Given the description of an element on the screen output the (x, y) to click on. 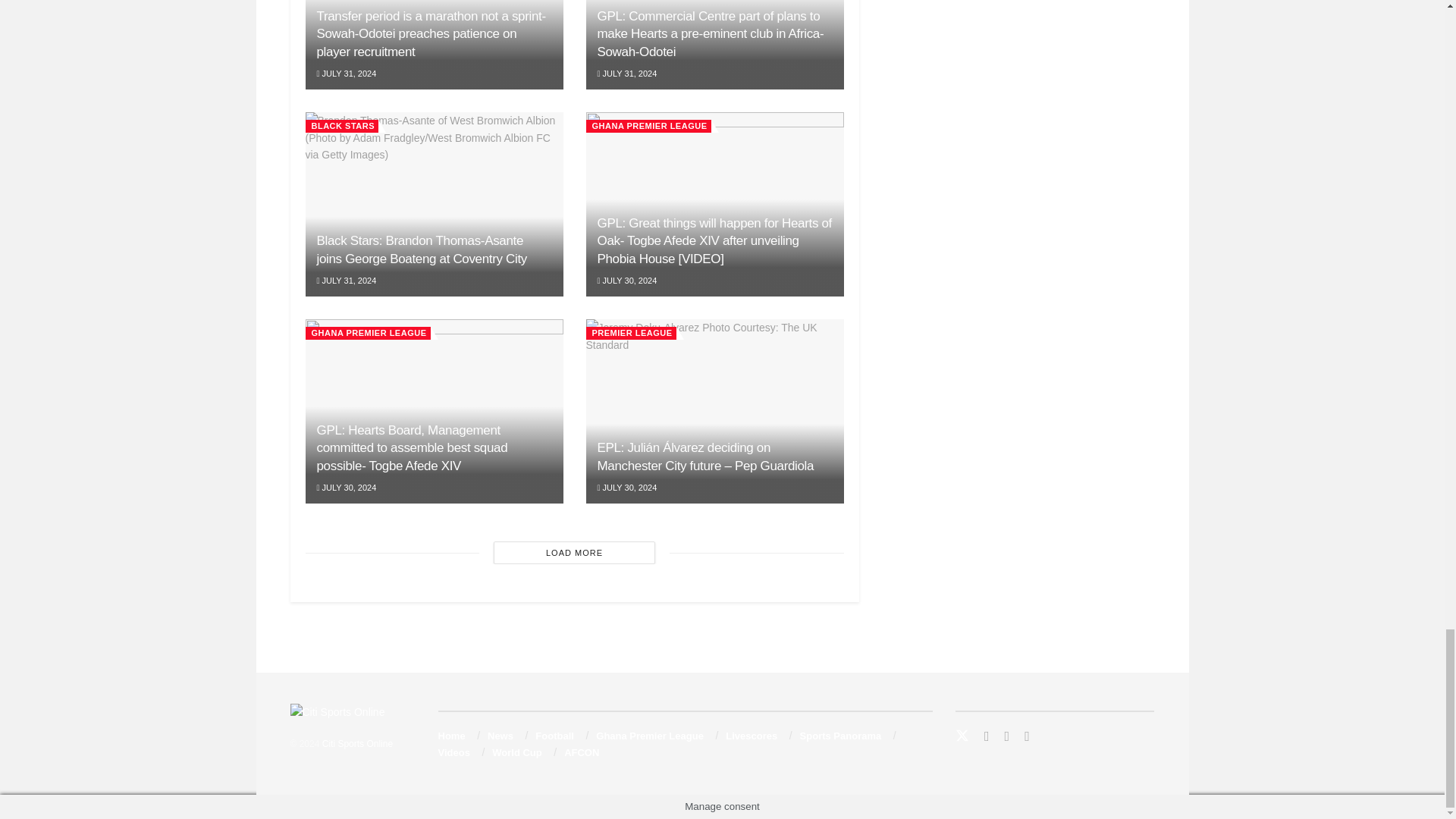
Citi Sports Online (357, 743)
